Given the description of an element on the screen output the (x, y) to click on. 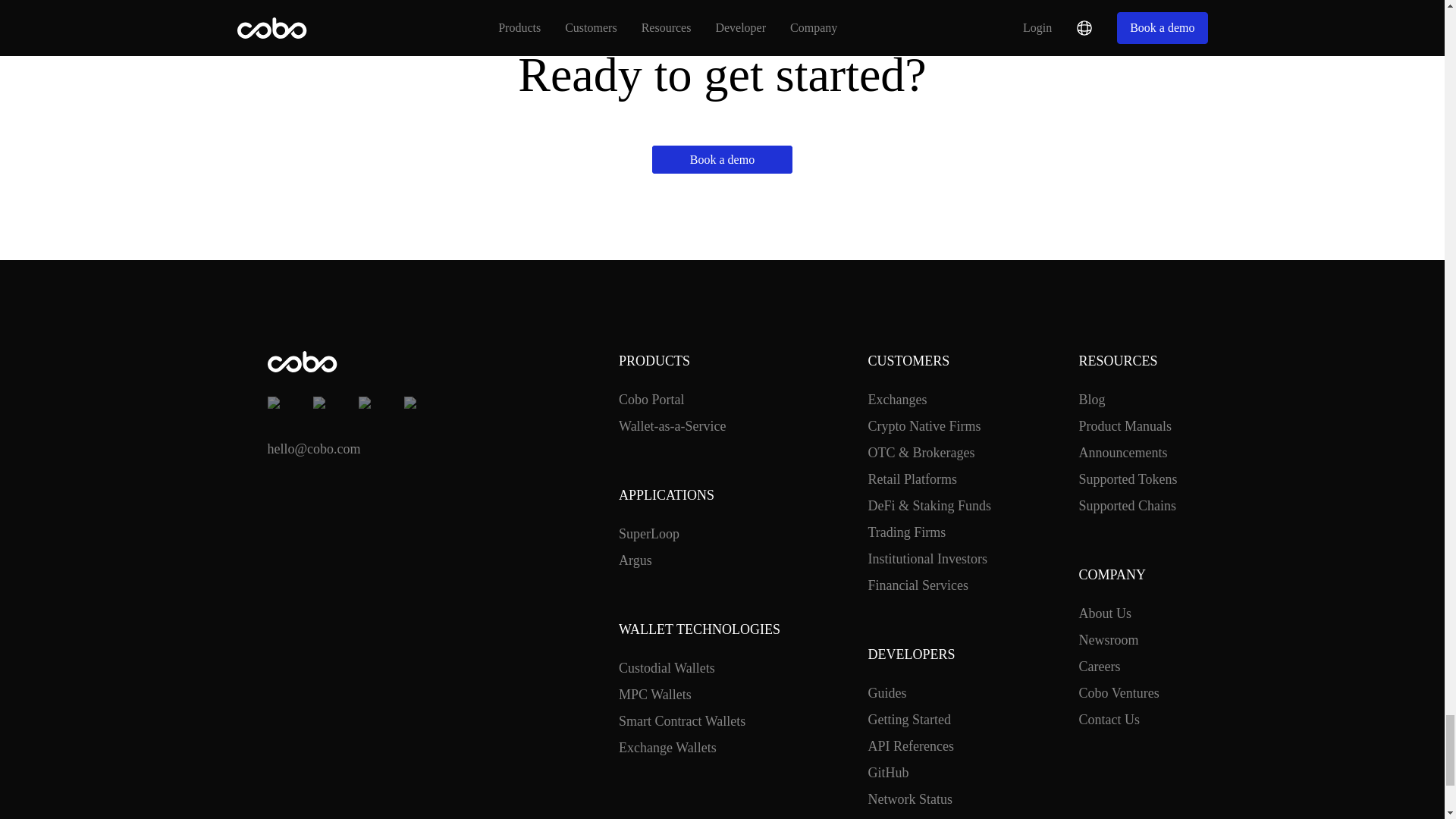
Wallet-as-a-Service (671, 426)
Book a demo (722, 159)
Argus (635, 560)
Custodial Wallets (666, 668)
Cobo Portal (651, 399)
Smart Contract Wallets (681, 721)
MPC Wallets (654, 694)
SuperLoop (648, 534)
